Given the description of an element on the screen output the (x, y) to click on. 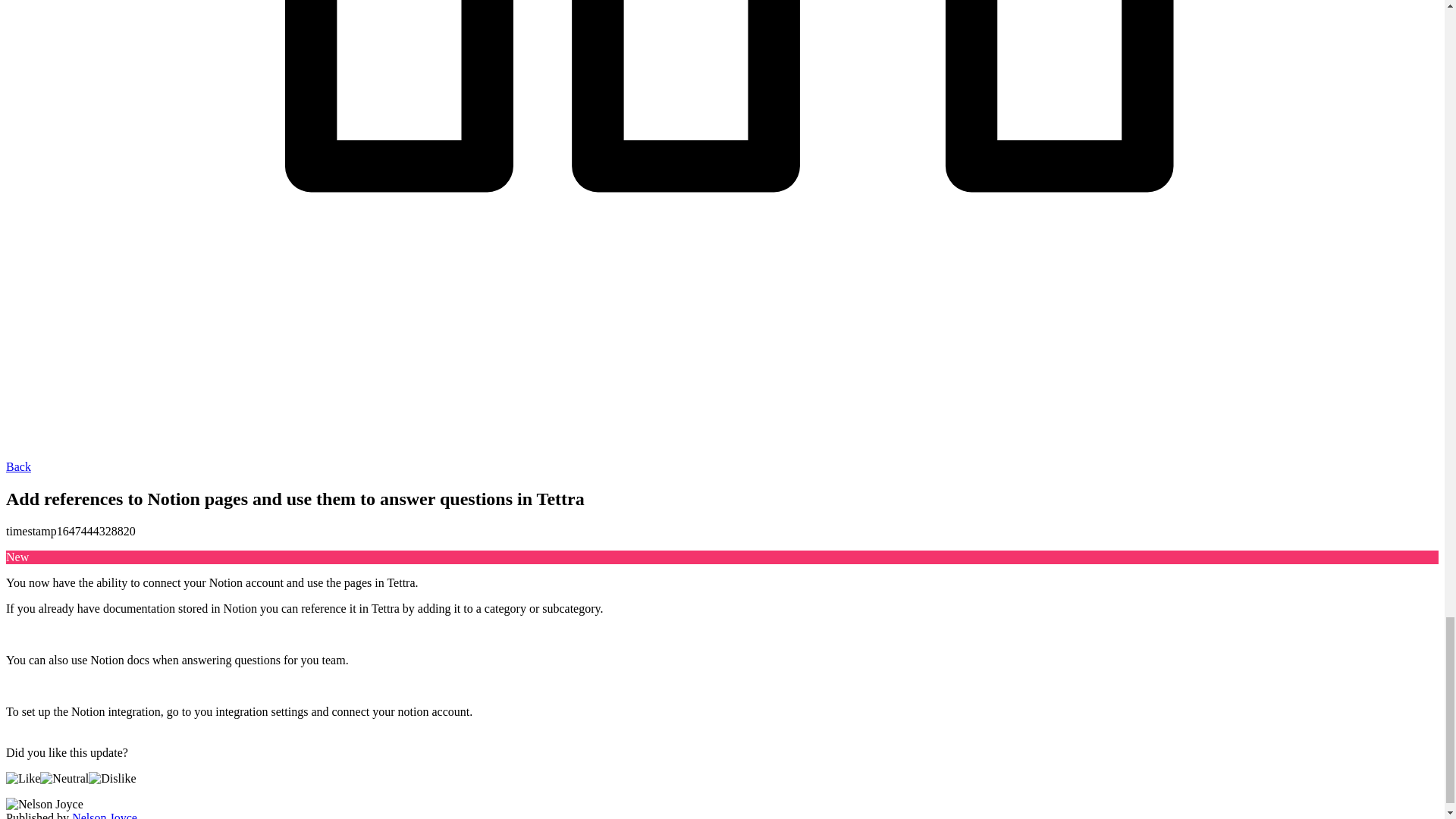
Like (22, 778)
Neutral (64, 778)
Dislike (111, 778)
Back (17, 466)
Back (17, 466)
